Given the description of an element on the screen output the (x, y) to click on. 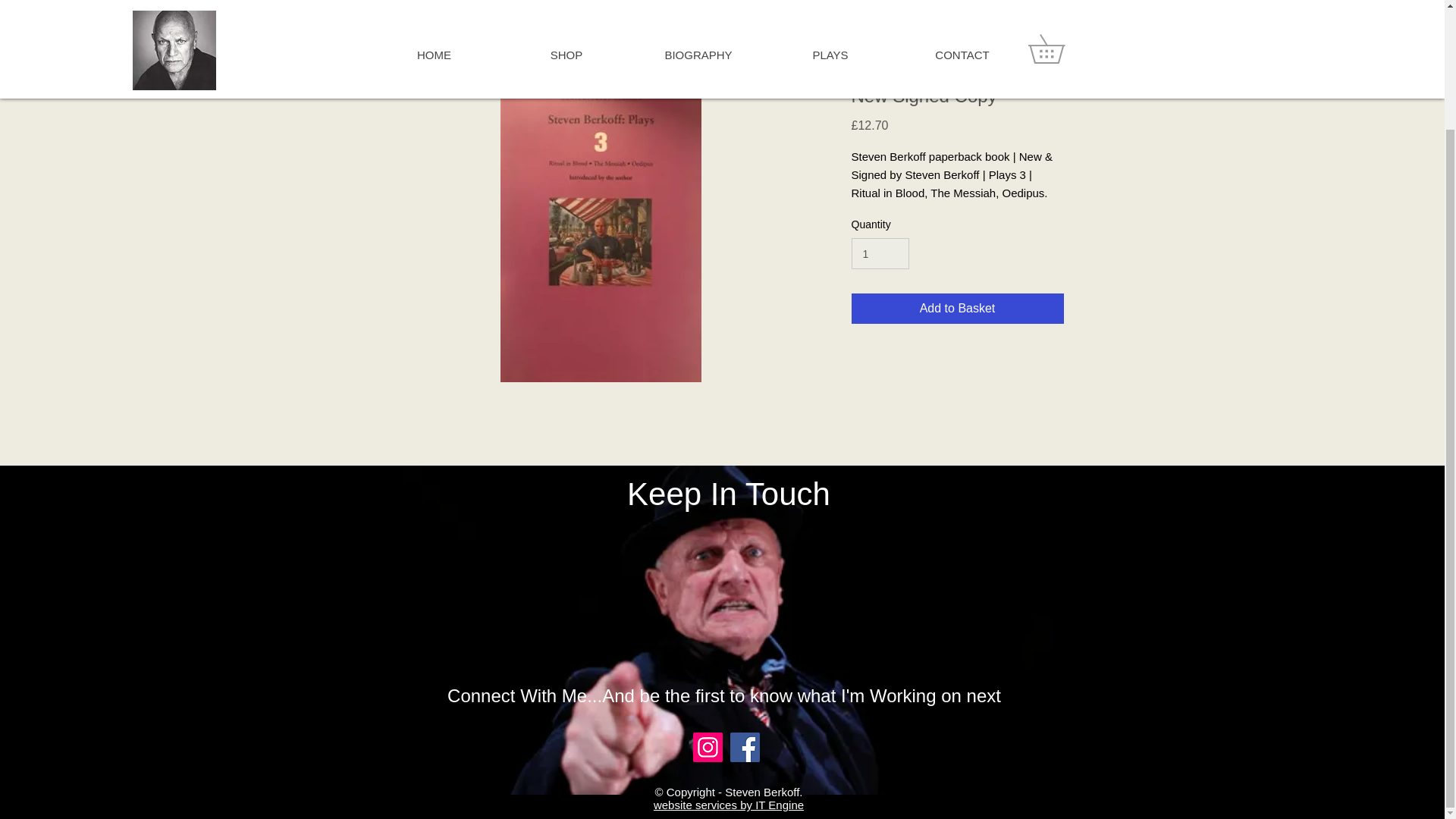
website services by IT Engine (728, 804)
Add to Basket (956, 308)
1 (879, 253)
